Given the description of an element on the screen output the (x, y) to click on. 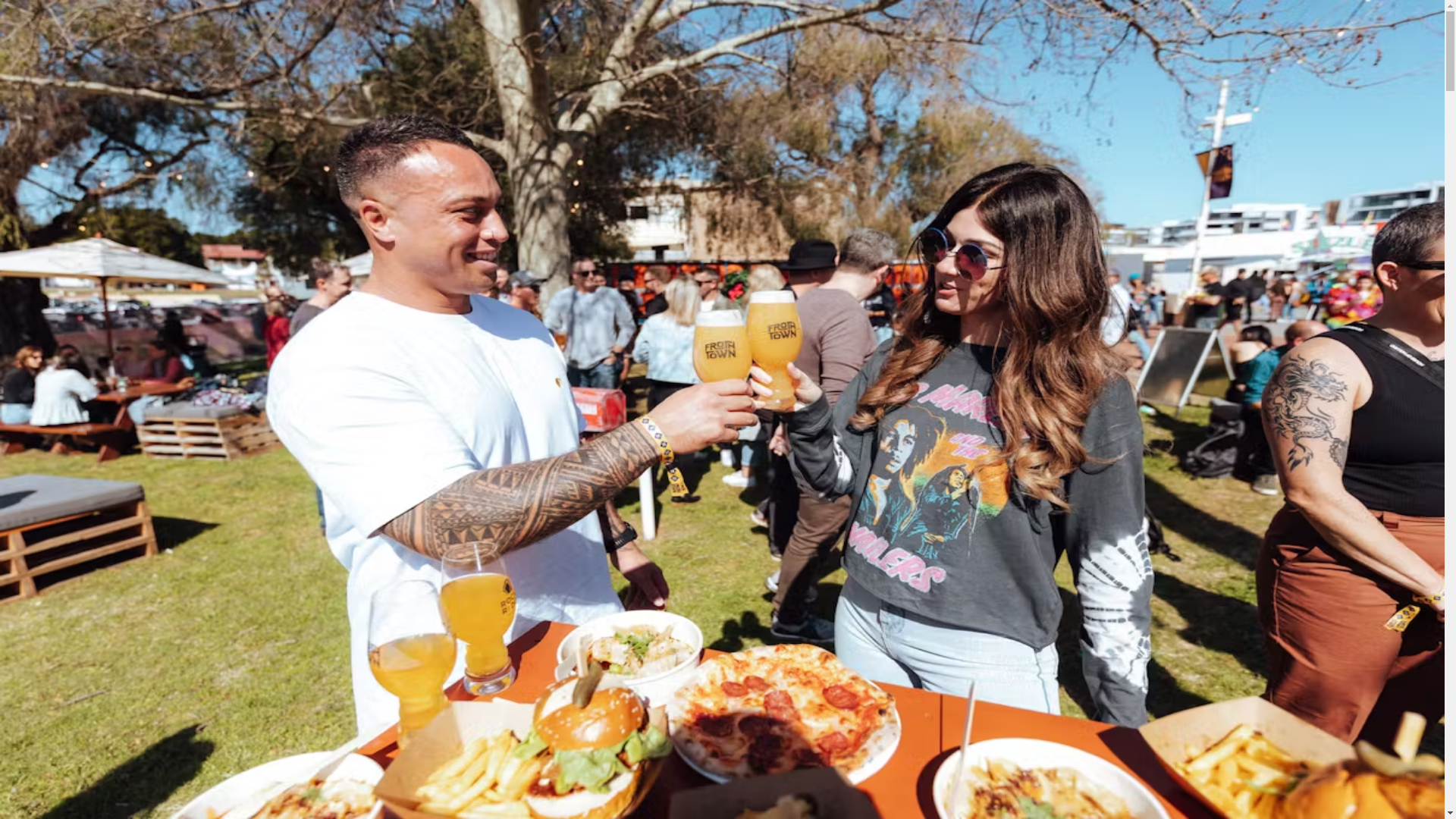
Homes (52, 354)
Stays (49, 395)
Explore (55, 368)
Dream Careers Hub (84, 409)
Lifestyle (58, 422)
